Given the description of an element on the screen output the (x, y) to click on. 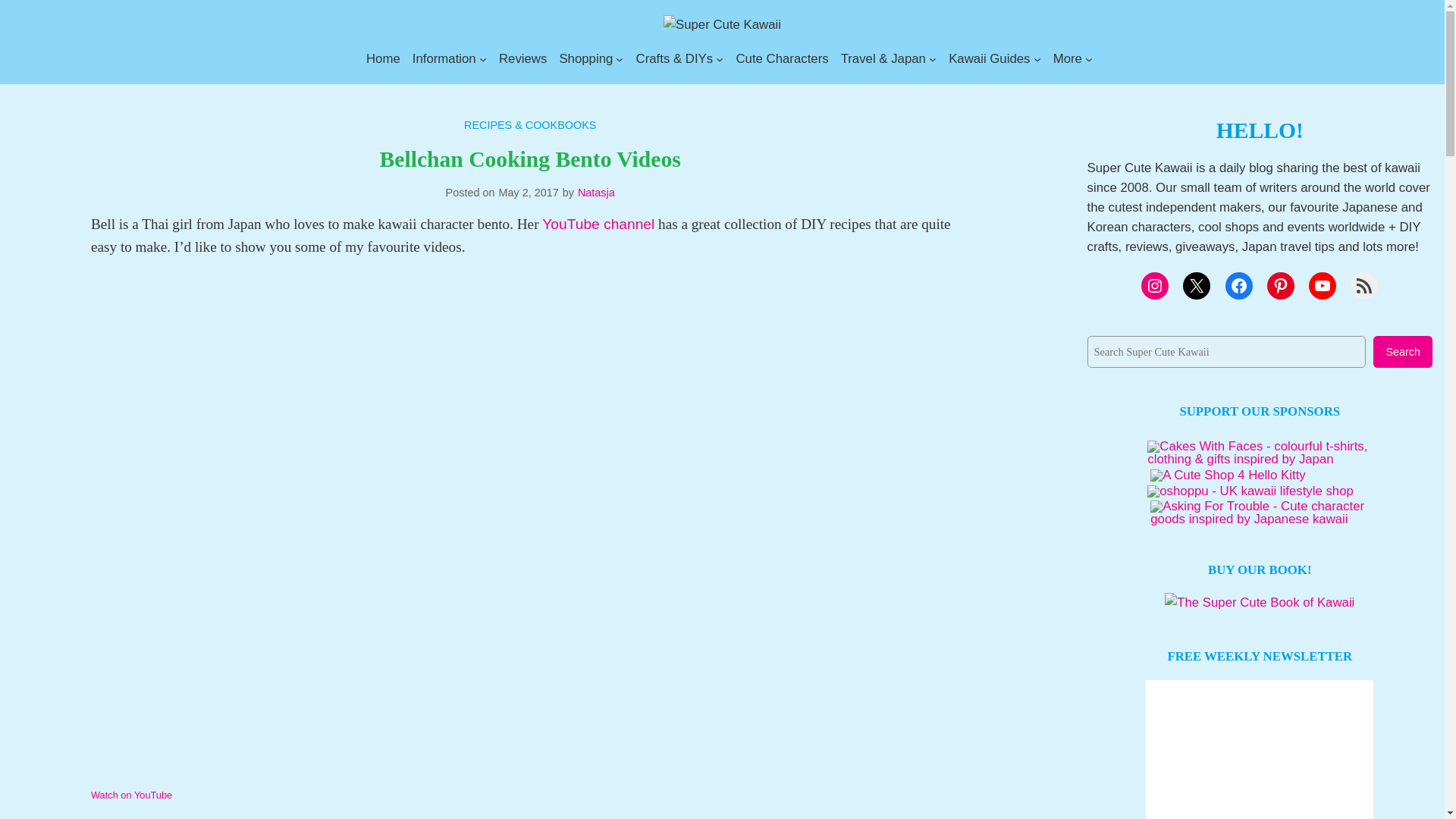
Shopping (585, 58)
Home (383, 58)
Reviews (523, 58)
Information (444, 58)
